Given the description of an element on the screen output the (x, y) to click on. 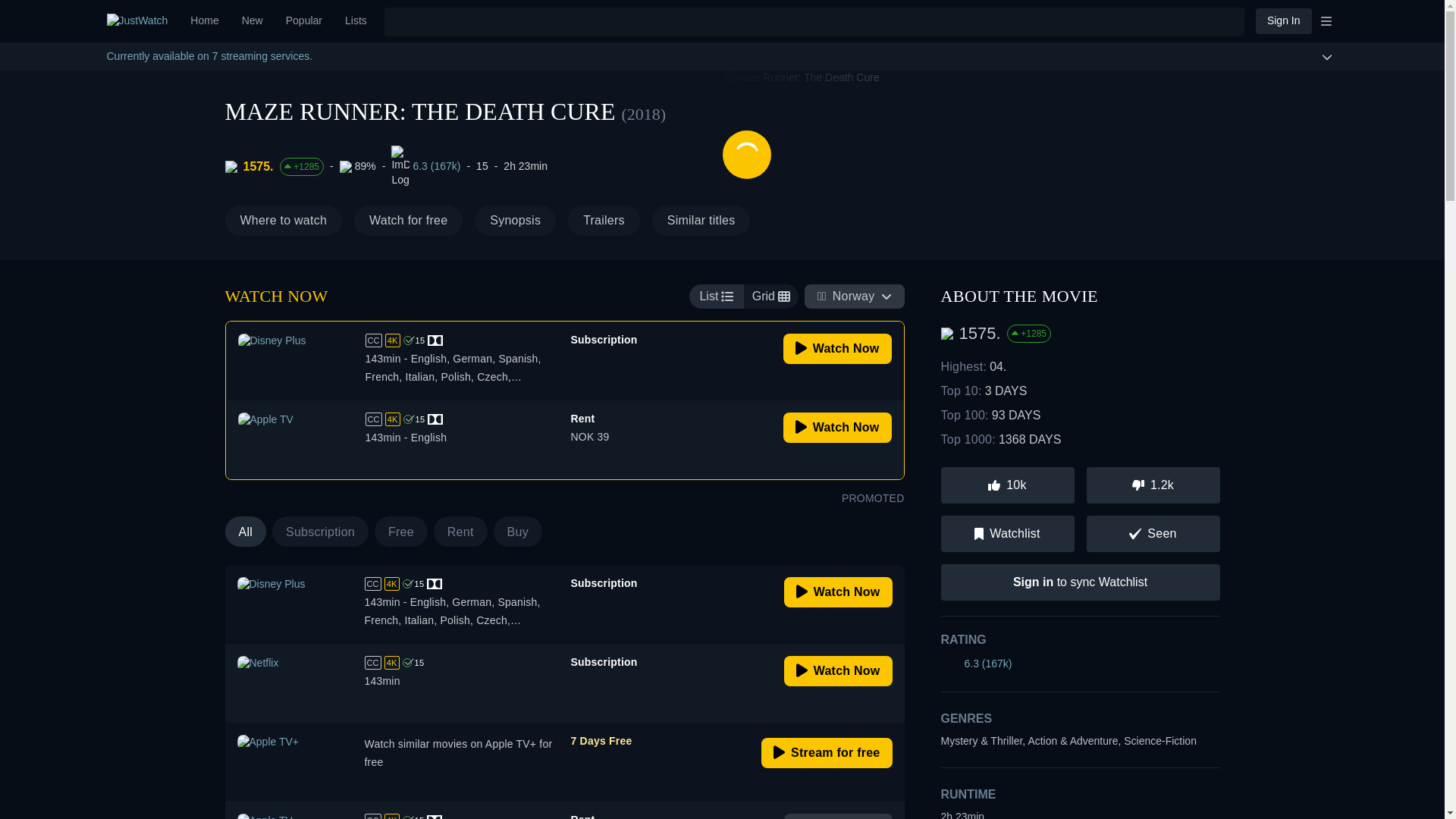
Free (401, 531)
Sign In (1283, 20)
Watch Now (837, 427)
Home (204, 21)
Stream for free (826, 752)
All (245, 531)
Lists (355, 21)
Where to watch (283, 220)
Popular (385, 531)
New (564, 439)
